Given the description of an element on the screen output the (x, y) to click on. 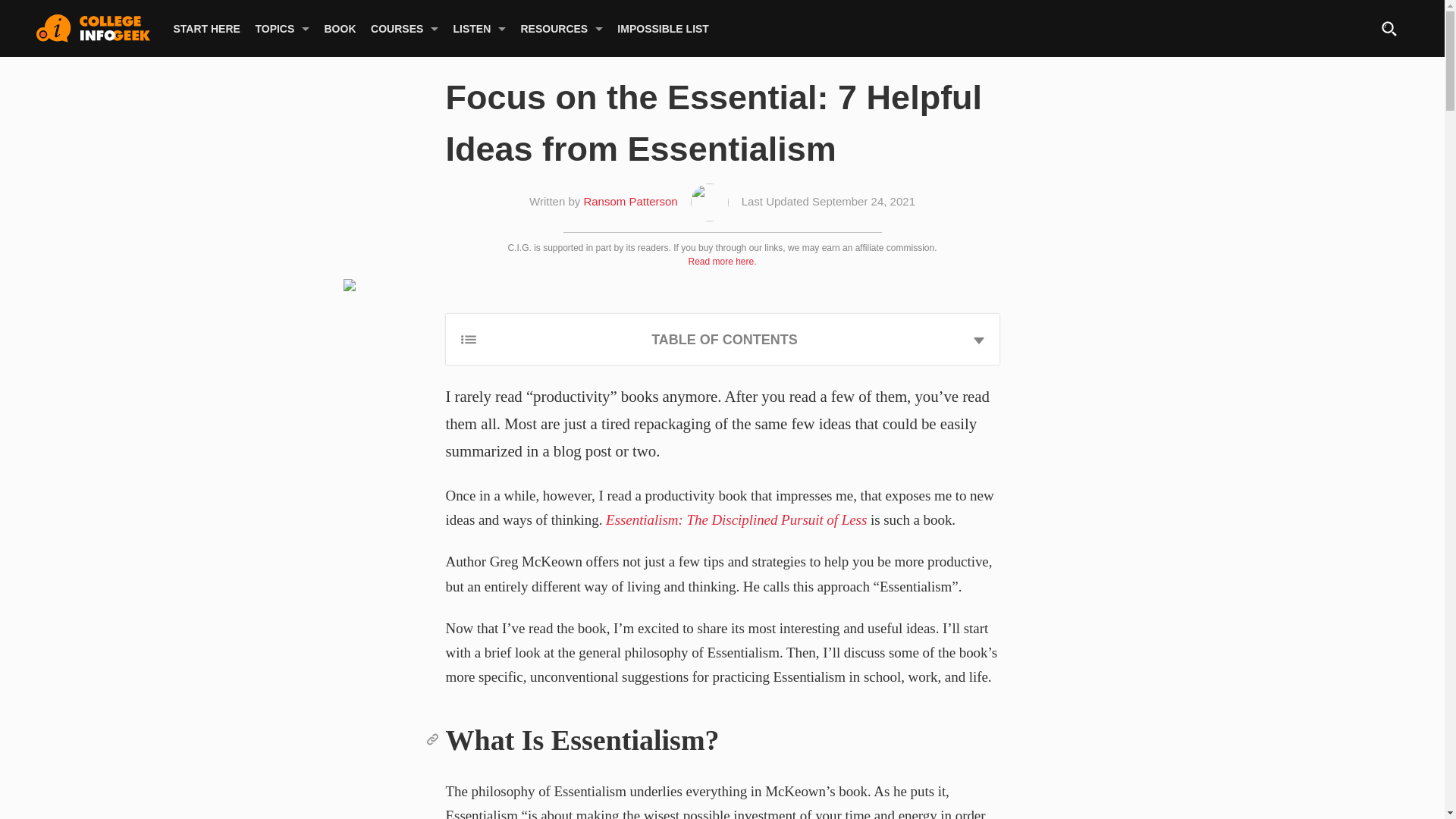
TOPICS (274, 28)
MENU 2 (468, 338)
COURSES (396, 28)
BOOK (340, 28)
START HERE (206, 28)
LISTEN (471, 28)
arrow 2 (979, 340)
